Given the description of an element on the screen output the (x, y) to click on. 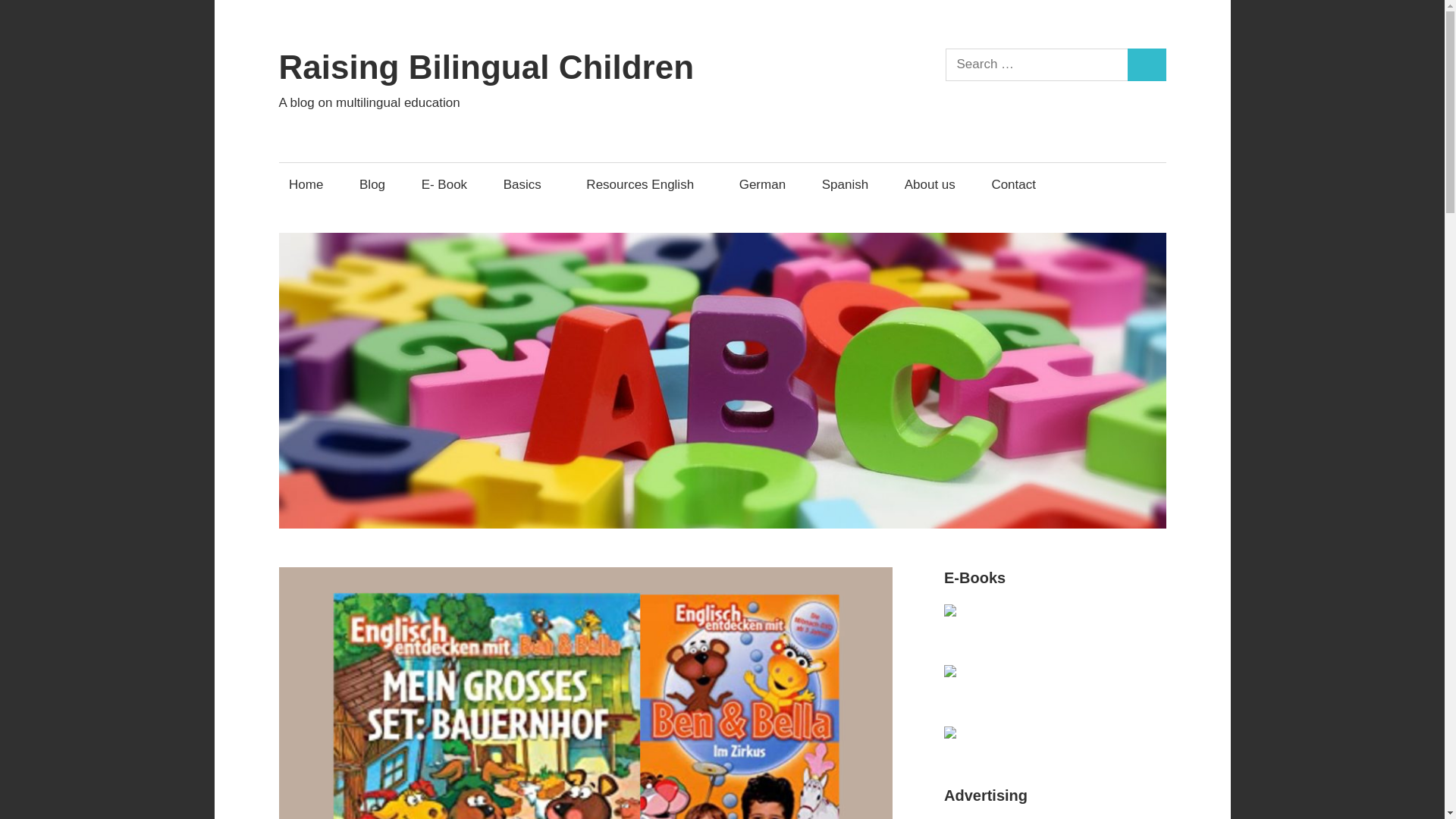
Raising Bilingual Children (486, 66)
Blog (371, 184)
Home (306, 184)
Search for: (1036, 64)
Search (1146, 64)
Basics (526, 184)
E- Book (443, 184)
